Given the description of an element on the screen output the (x, y) to click on. 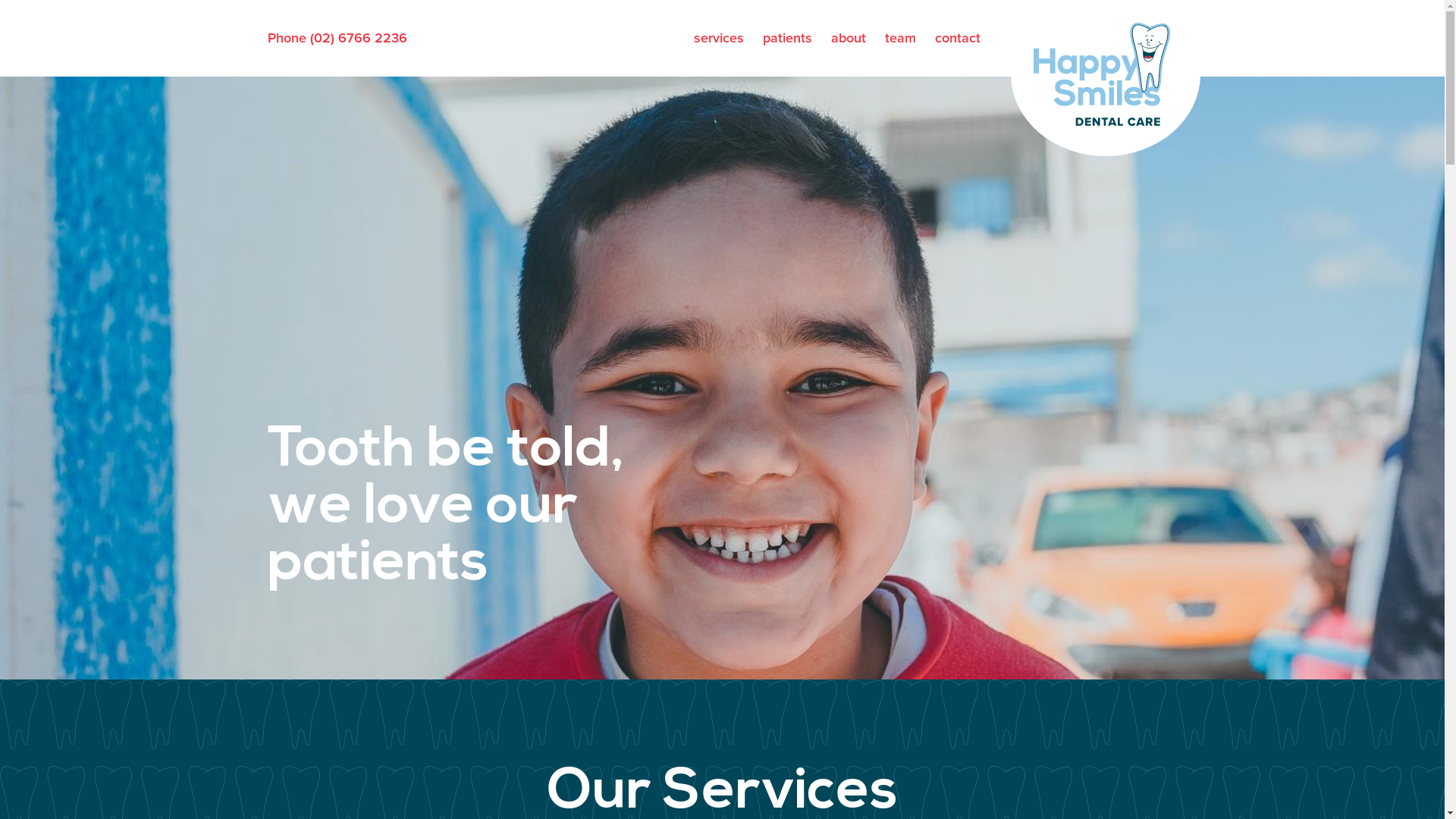
contact Element type: text (956, 38)
team Element type: text (899, 38)
about Element type: text (848, 38)
patients Element type: text (787, 38)
(02) 6766 2236 Element type: text (357, 37)
services Element type: text (717, 38)
